Given the description of an element on the screen output the (x, y) to click on. 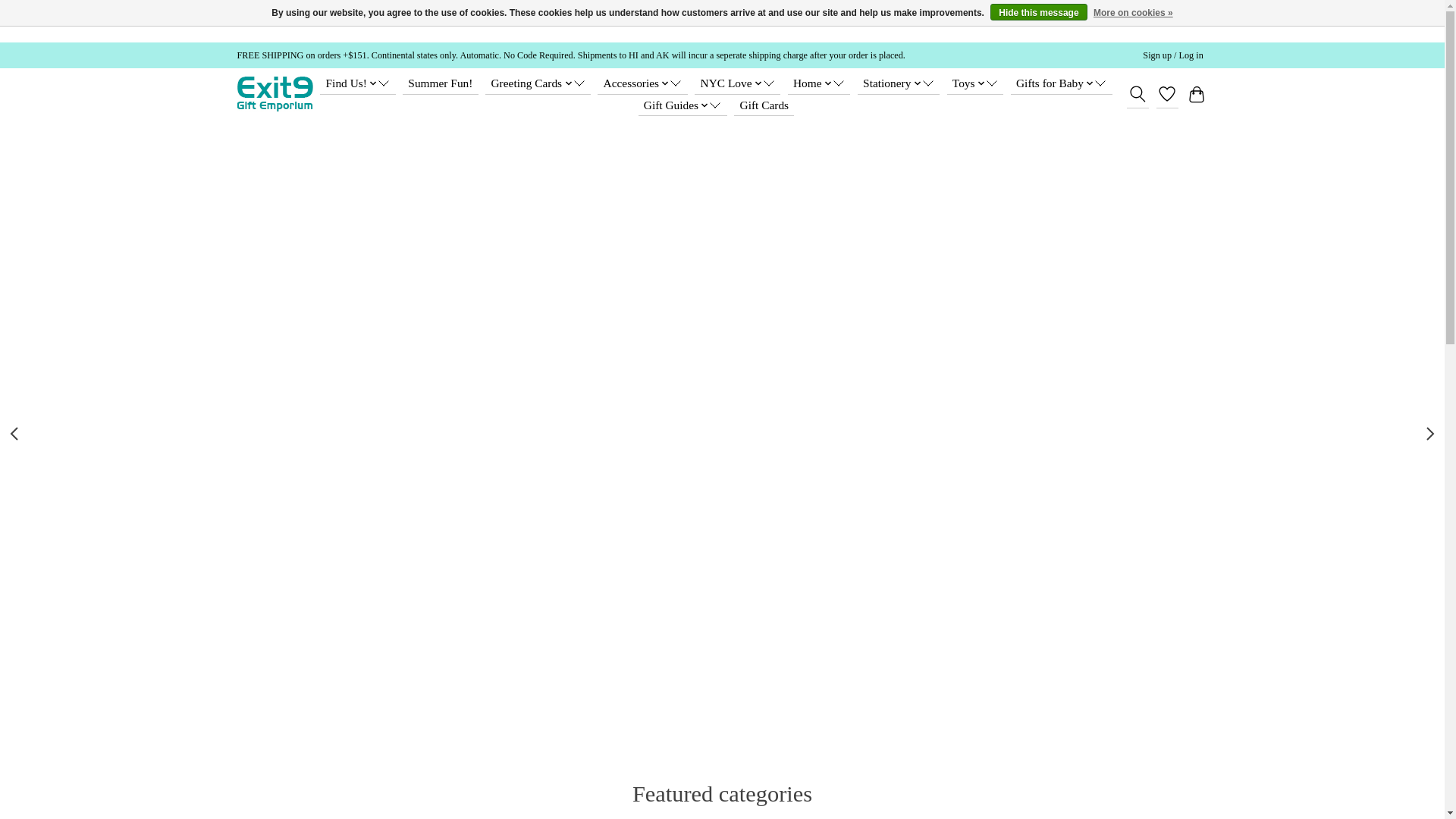
Find Us! (357, 83)
My account (1173, 55)
NYC Love (737, 83)
Home (818, 83)
Exit9 Gift Emporium - We sell fun! (274, 94)
Greeting Cards (536, 83)
Summer Fun! (441, 83)
Accessories (641, 83)
